Given the description of an element on the screen output the (x, y) to click on. 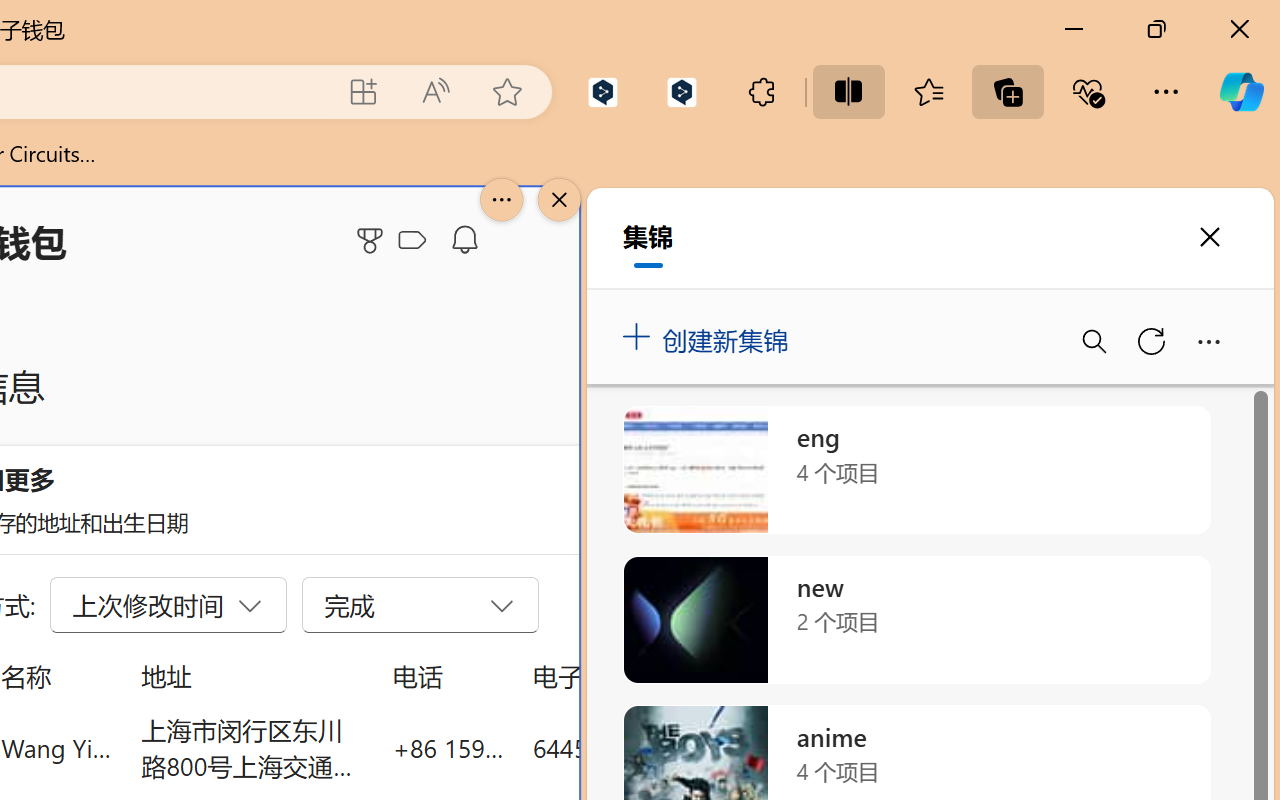
+86 159 0032 4640 (447, 747)
Microsoft Cashback (415, 241)
